Given the description of an element on the screen output the (x, y) to click on. 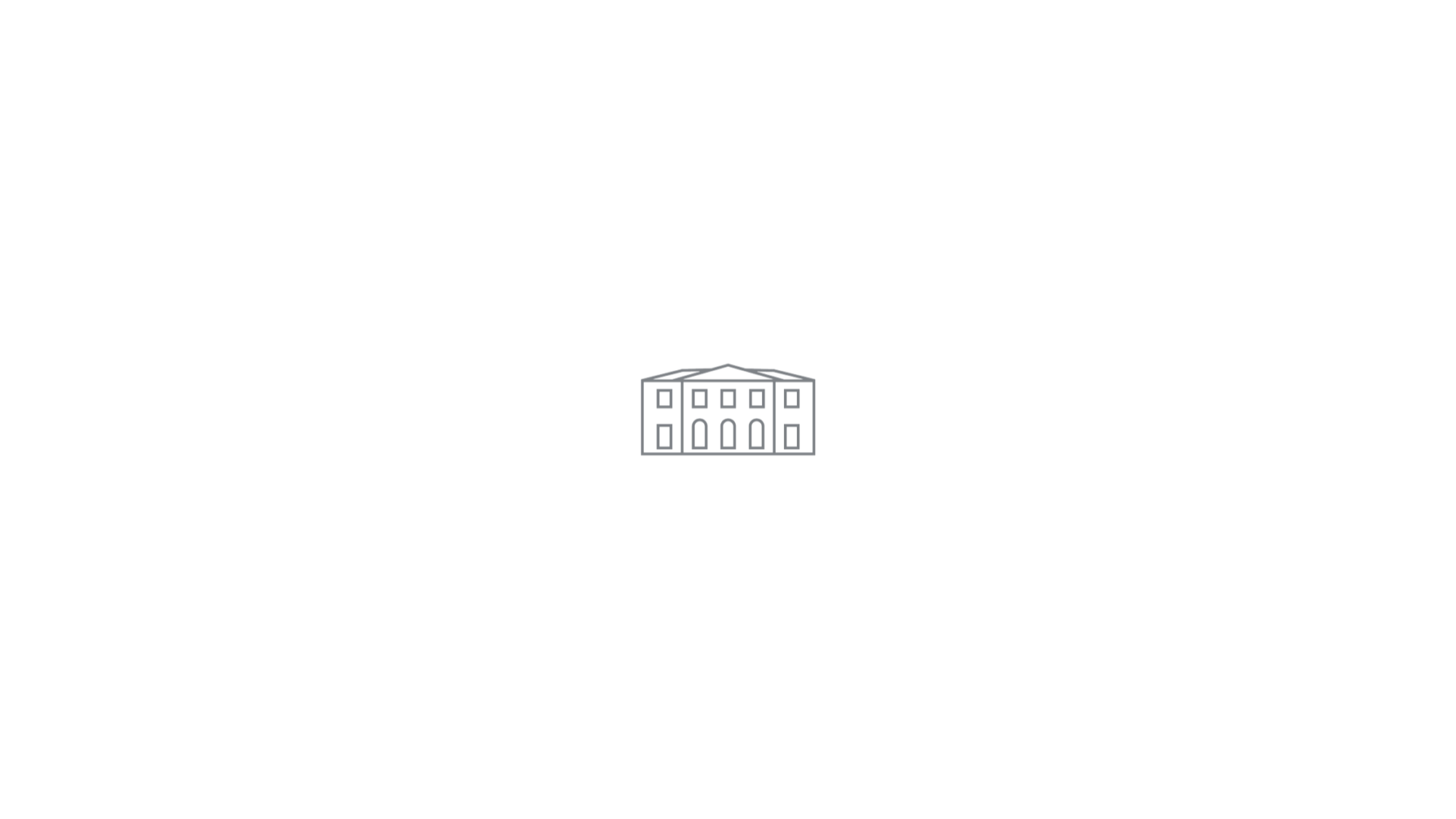
The Gold Standard Foundation Element type: text (1080, 789)
A propos Element type: text (1034, 41)
Accueil Element type: text (90, 41)
Permanent contract / CDI Element type: text (403, 438)
Login / Register Element type: text (1353, 40)
Employeurs Element type: text (177, 41)
IT / Informatique Element type: text (391, 409)
Prestations Element type: text (1247, 41)
